Given the description of an element on the screen output the (x, y) to click on. 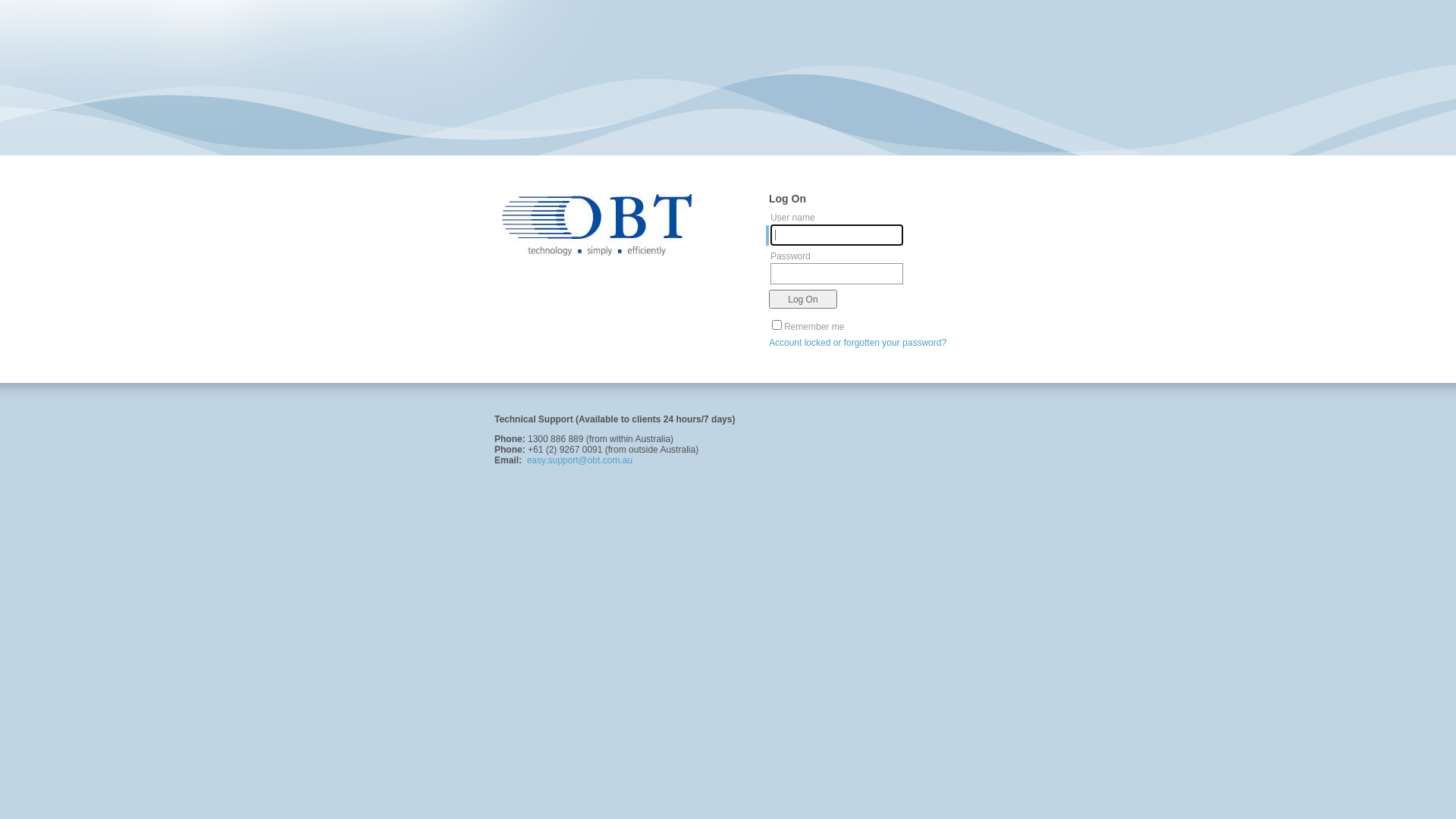
Account locked or forgotten your password? Element type: text (857, 342)
easy.support@obt.com.au Element type: text (579, 460)
Log On Element type: text (802, 298)
